Given the description of an element on the screen output the (x, y) to click on. 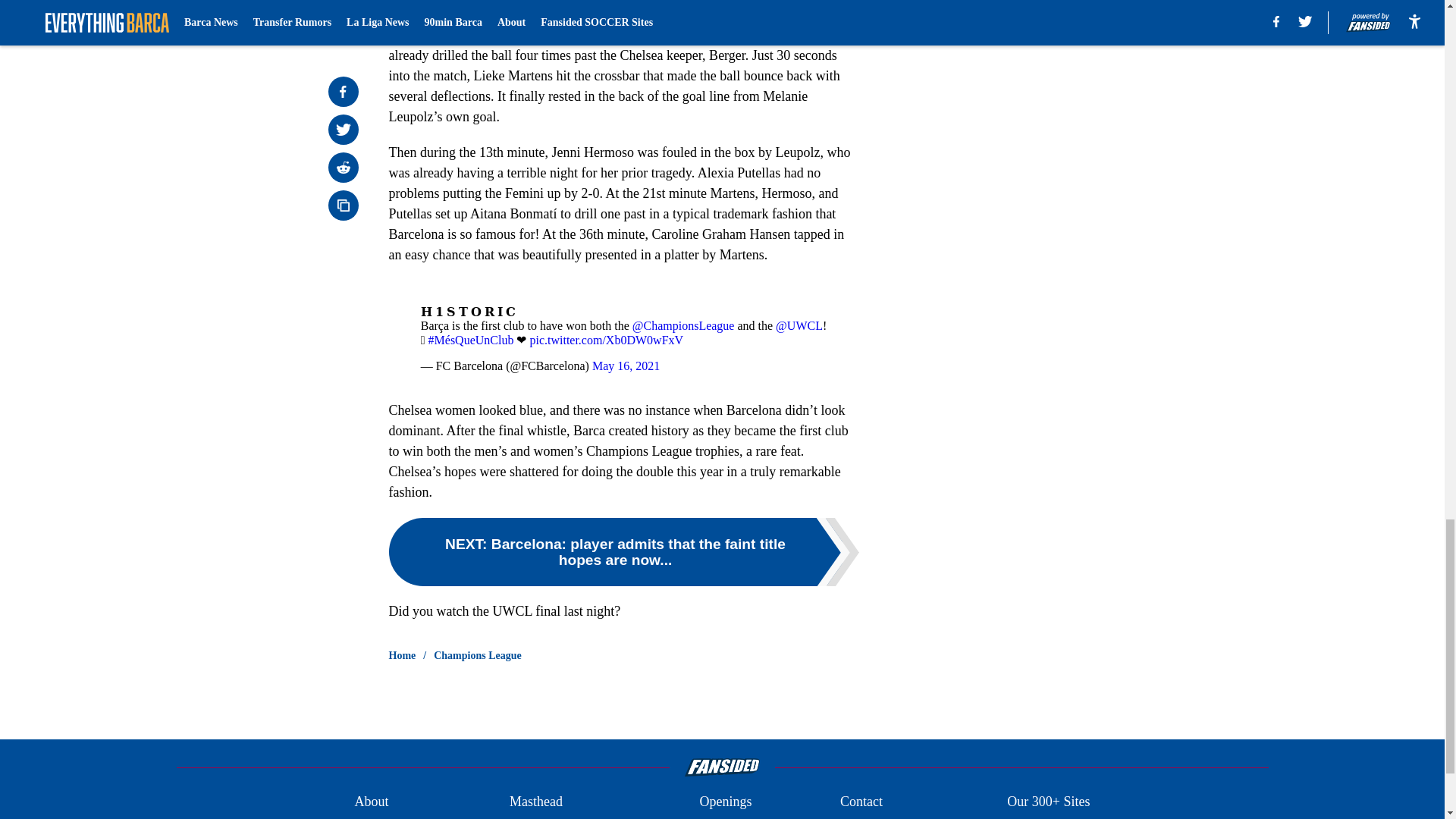
May 16, 2021 (625, 365)
Champions League (477, 655)
Home (401, 655)
About (370, 801)
Openings (724, 801)
Contact (861, 801)
Masthead (535, 801)
